Given the description of an element on the screen output the (x, y) to click on. 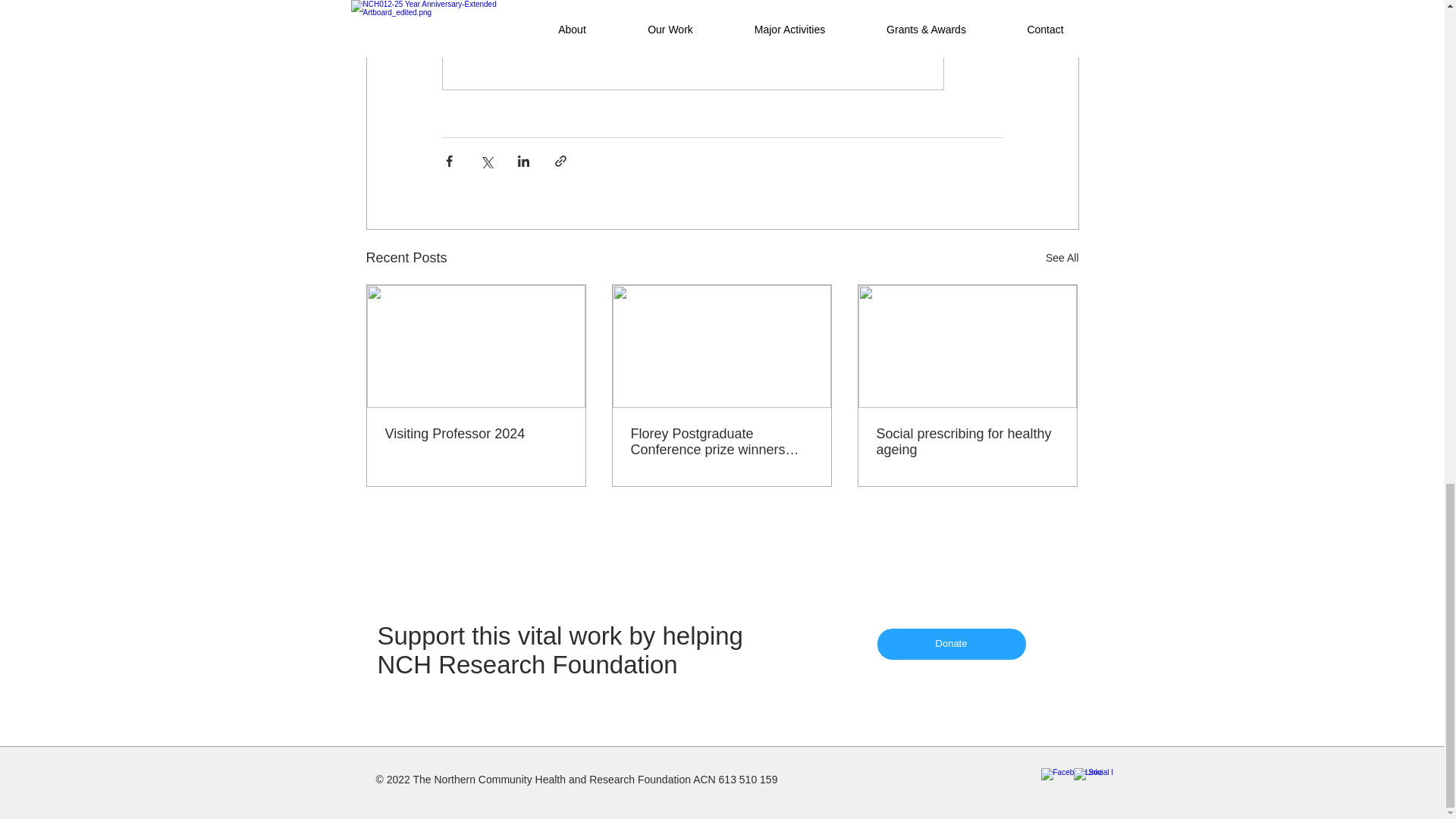
Donate (950, 644)
Florey Postgraduate Conference prize winners announced (721, 441)
Social prescribing for healthy ageing (967, 441)
See All (1061, 258)
Visiting Professor 2024 (476, 433)
